Given the description of an element on the screen output the (x, y) to click on. 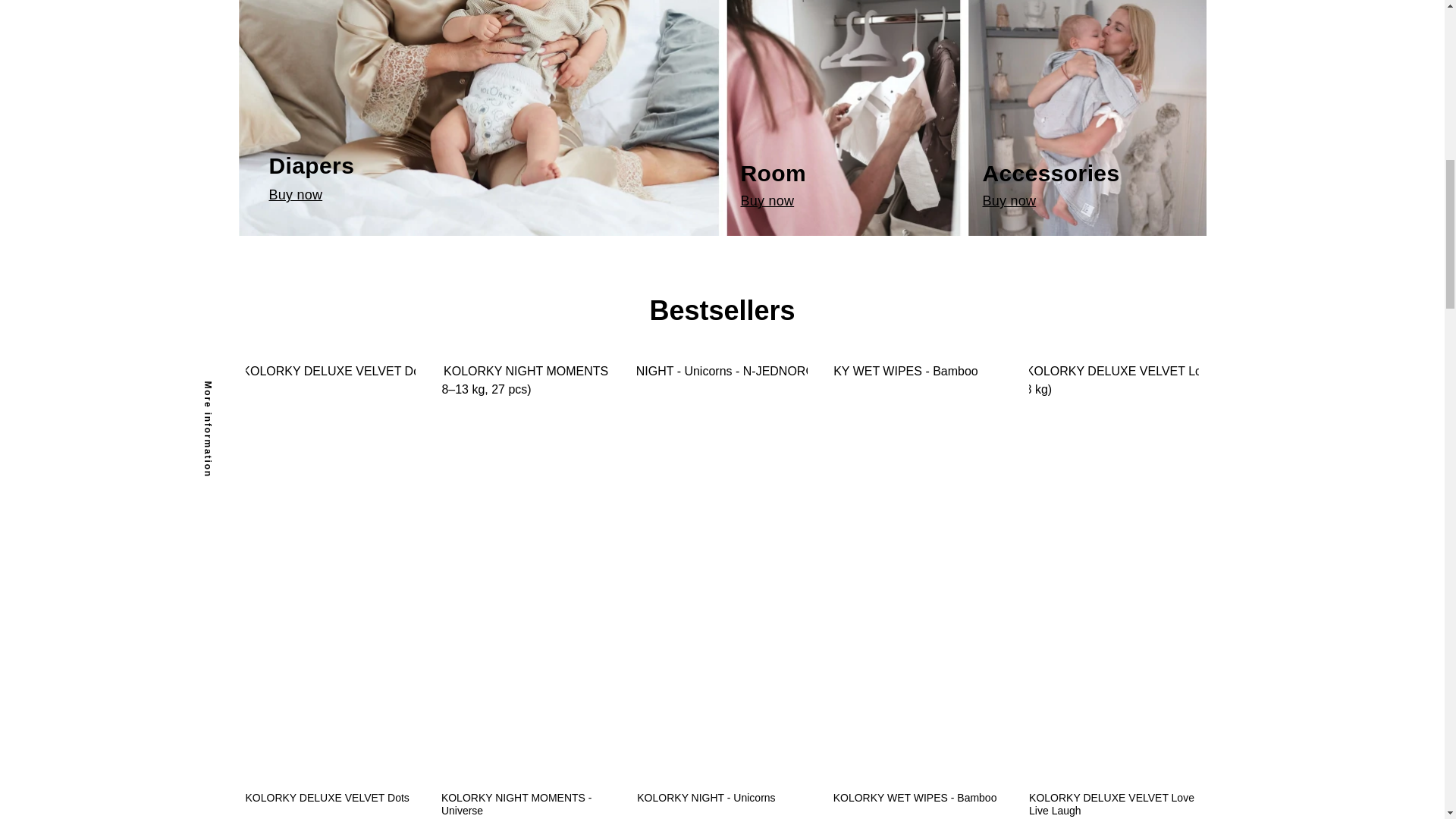
FASHION (842, 117)
KOLORKY (842, 117)
ACCESSORIES (480, 117)
